Given the description of an element on the screen output the (x, y) to click on. 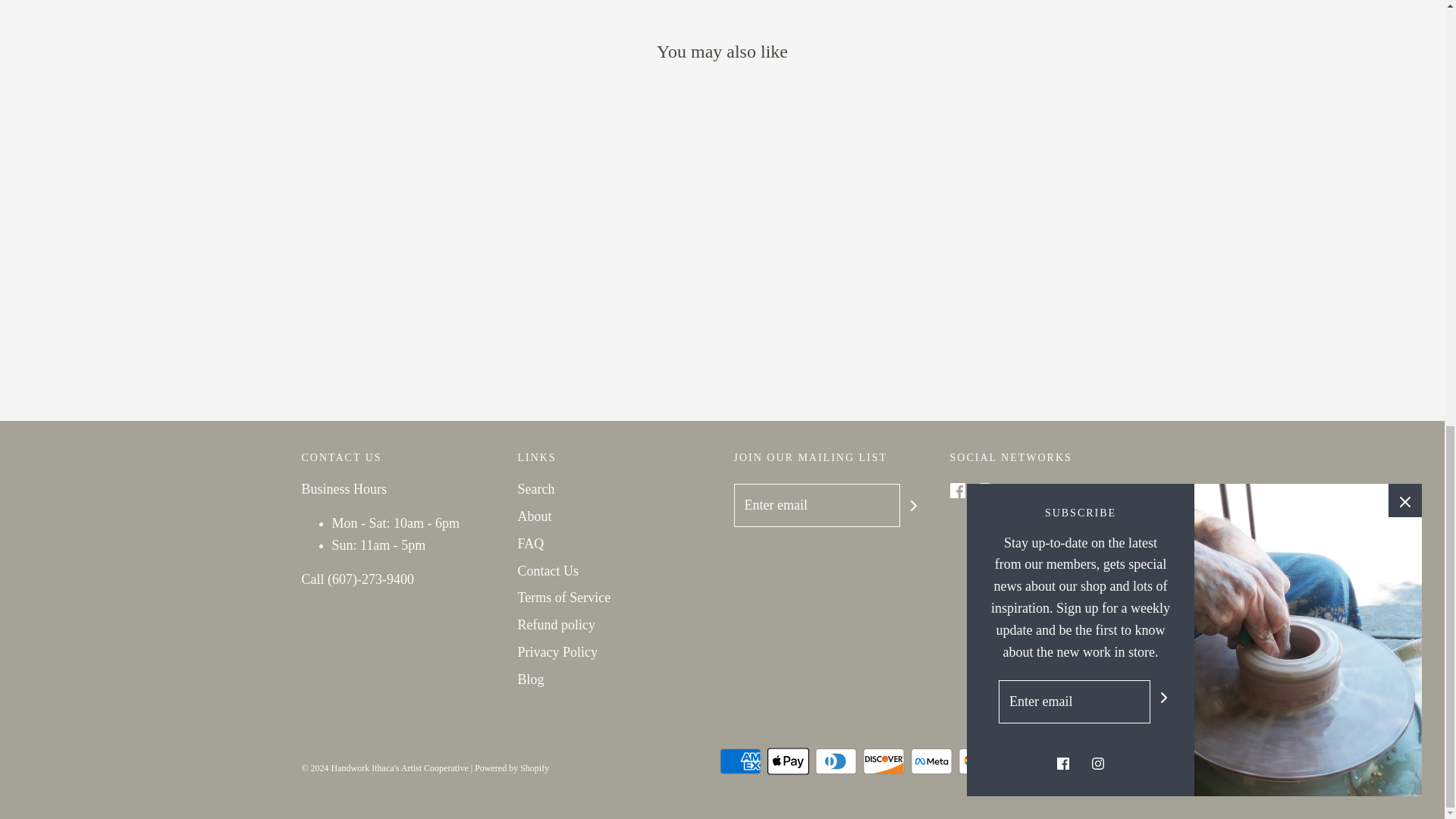
American Express (739, 761)
Facebook icon (956, 490)
Apple Pay (788, 761)
Diners Club (834, 761)
Mastercard (1026, 761)
Visa (1121, 761)
Google Pay (979, 761)
Shop Pay (1075, 761)
Meta Pay (931, 761)
Discover (883, 761)
Instagram icon (983, 490)
